Given the description of an element on the screen output the (x, y) to click on. 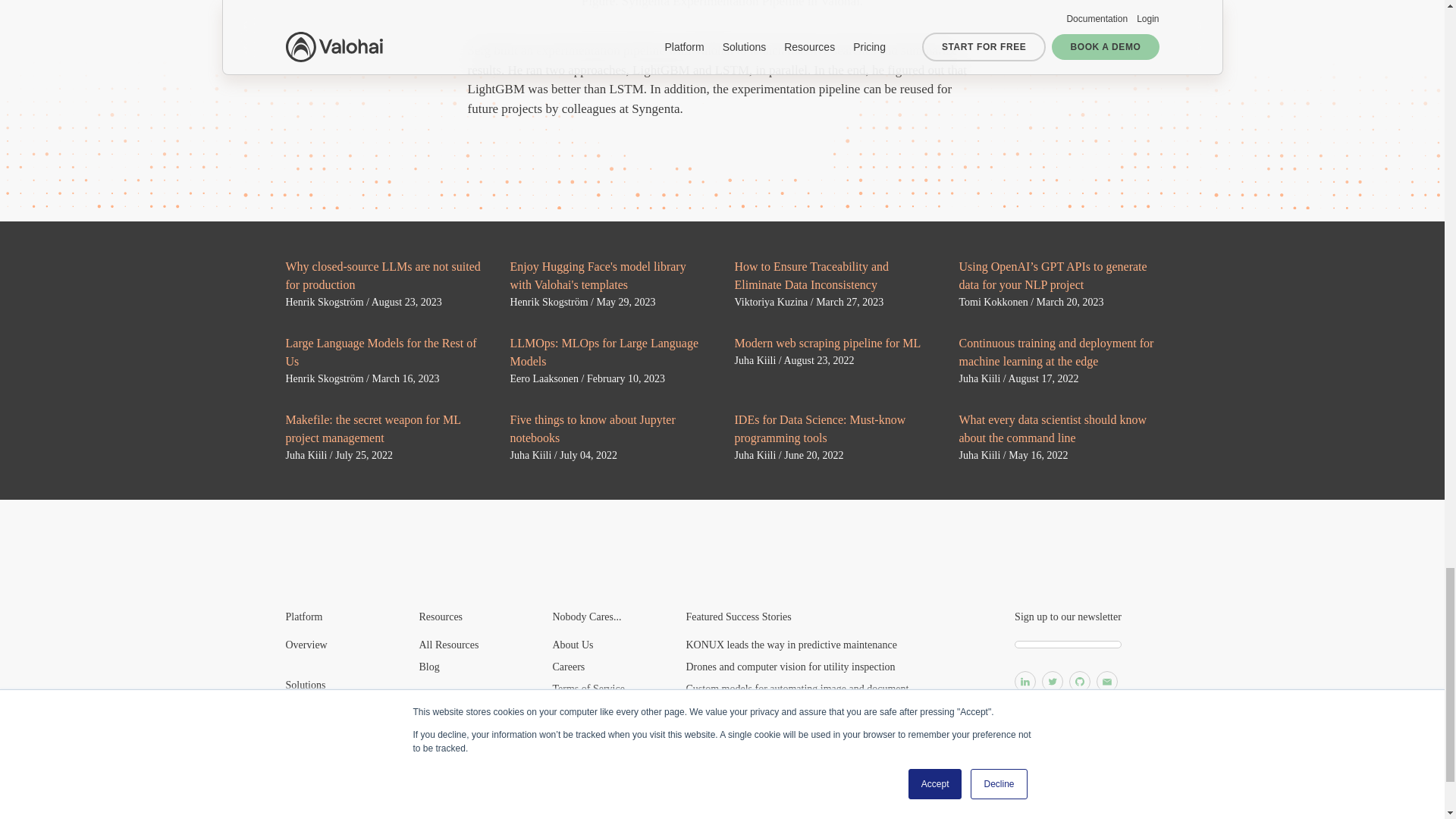
Drones and computer vision for utility inspection (790, 666)
Documentation (451, 756)
What every data scientist should know about the command line (1052, 428)
About Us (571, 644)
KONUX leads the way in predictive maintenance (790, 644)
Careers (568, 666)
Use Cases (307, 735)
Modern web scraping pipeline for ML (826, 342)
Blog (429, 666)
